Given the description of an element on the screen output the (x, y) to click on. 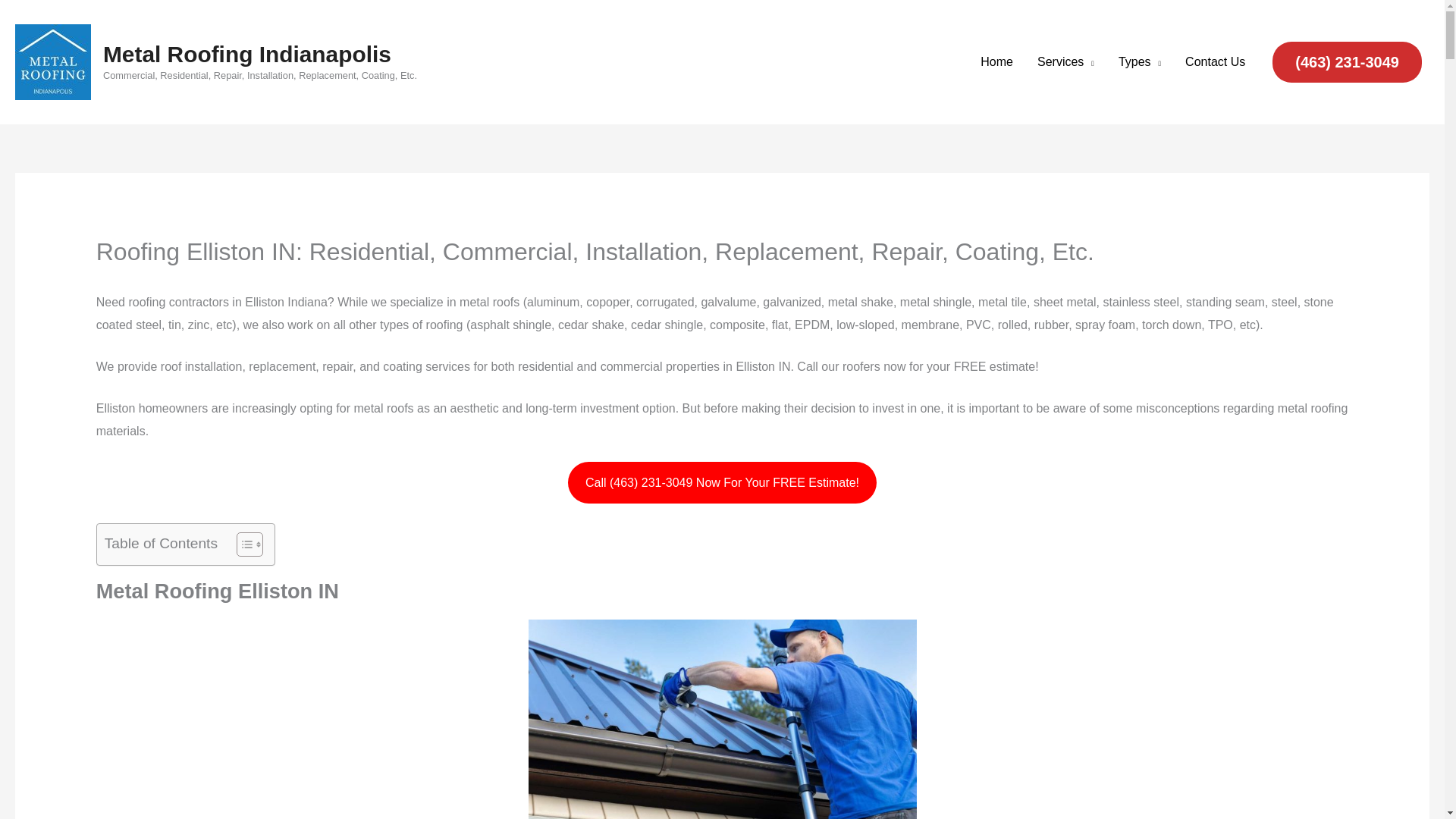
Home (996, 62)
Metal Roofing Indianapolis (247, 53)
Services (1065, 62)
